Given the description of an element on the screen output the (x, y) to click on. 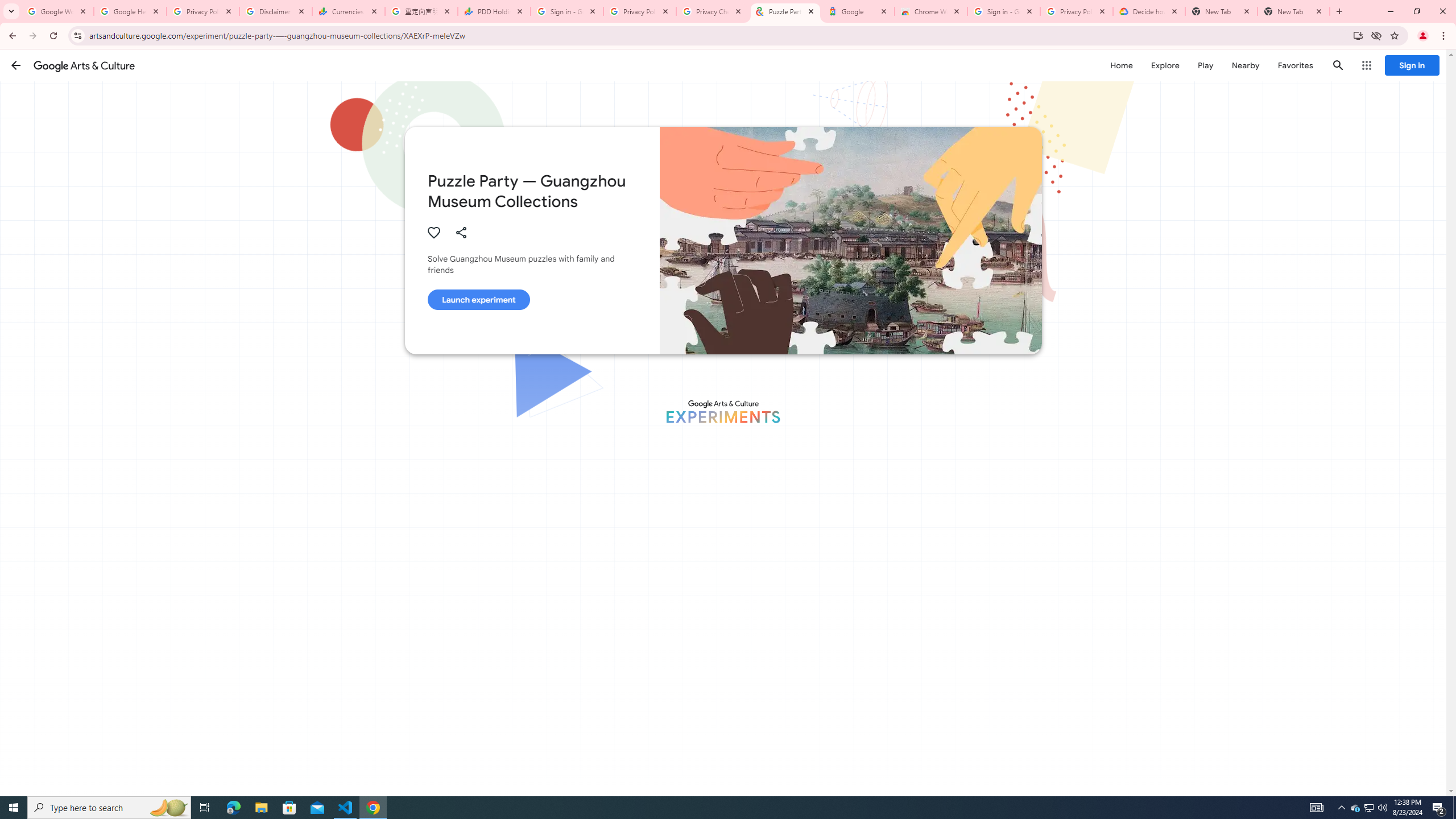
Difficult (798, 778)
Install Google Arts & Culture (1358, 35)
Google Workspace Admin Community (57, 11)
Launch experiment (477, 299)
